Given the description of an element on the screen output the (x, y) to click on. 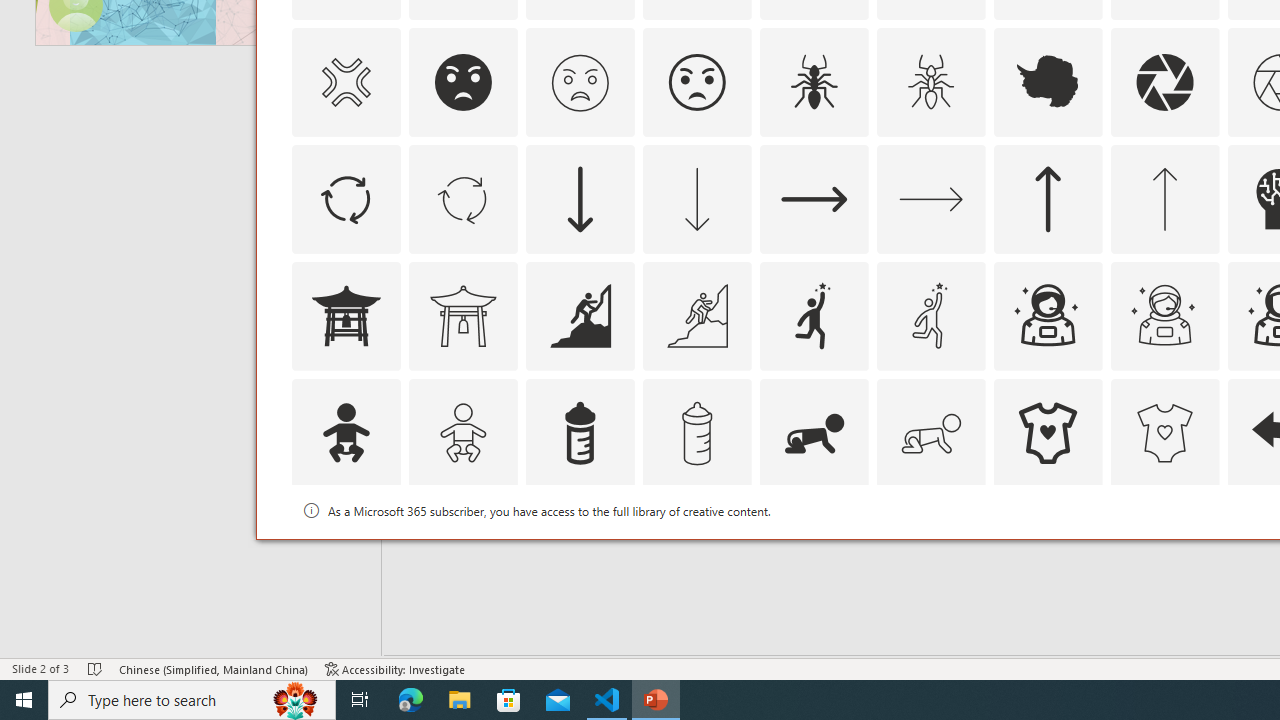
AutomationID: Icons_Baby (345, 432)
AutomationID: Icons_AstronautFemale_M (1164, 316)
AutomationID: Icons_Aspiration1_M (930, 316)
AutomationID: Icons_ArrowRight (813, 198)
AutomationID: Icons_AngryFace_Outline (696, 82)
AutomationID: Icons_Ant (813, 82)
